Given the description of an element on the screen output the (x, y) to click on. 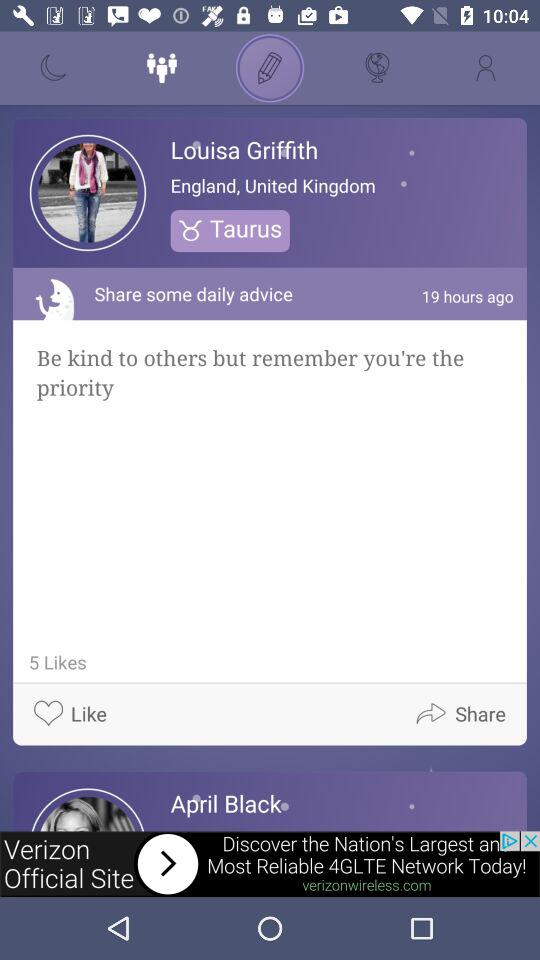
click on 5likes above like (53, 662)
click on the moon icon at top left corner of the page (53, 67)
click on the image to the left side of louisa griffith (87, 192)
